Given the description of an element on the screen output the (x, y) to click on. 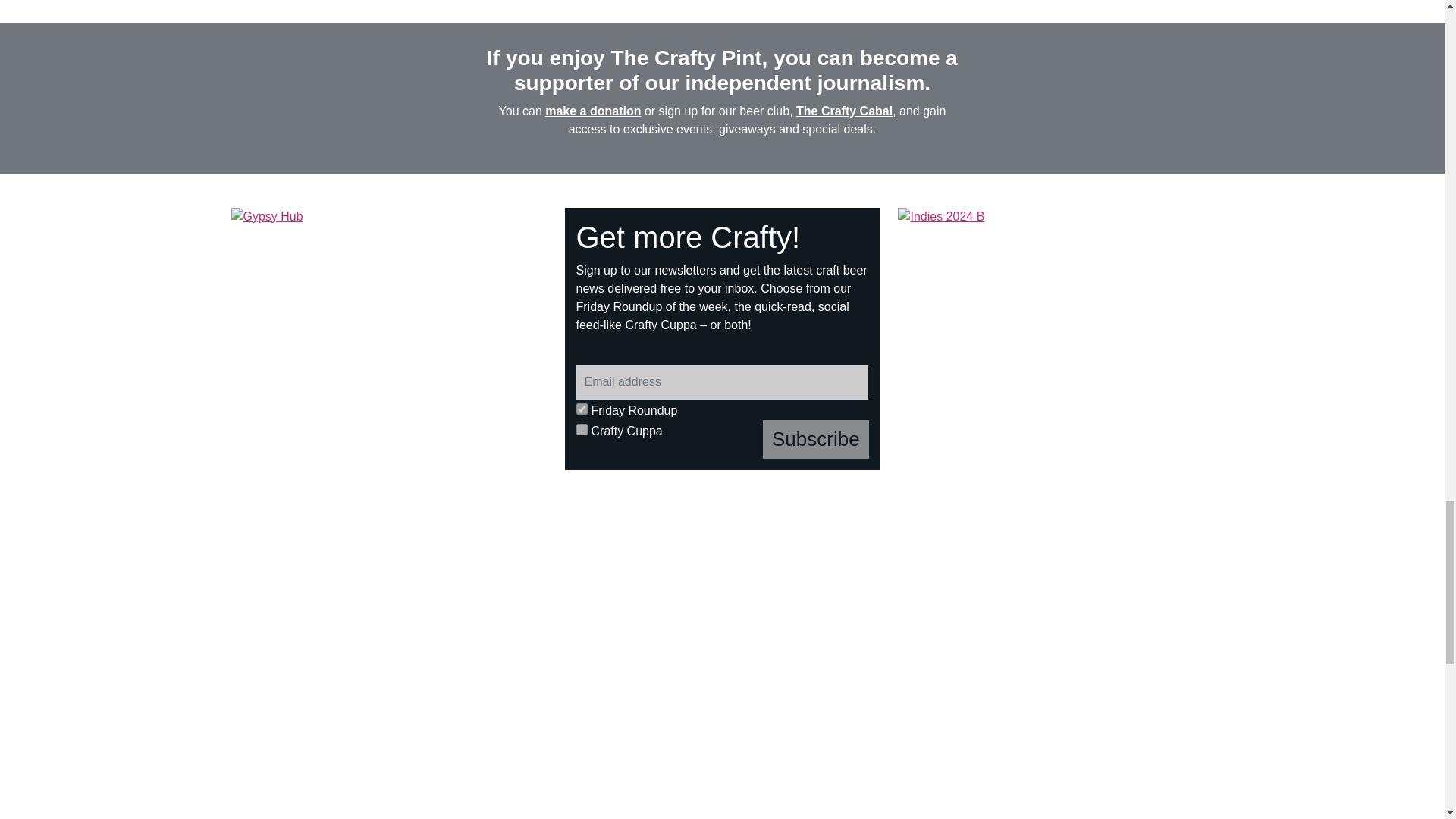
friday (582, 408)
Indies 2024 B (1055, 326)
Subscribe (815, 439)
Gypsy Hub (389, 339)
cuppa (582, 429)
